Given the description of an element on the screen output the (x, y) to click on. 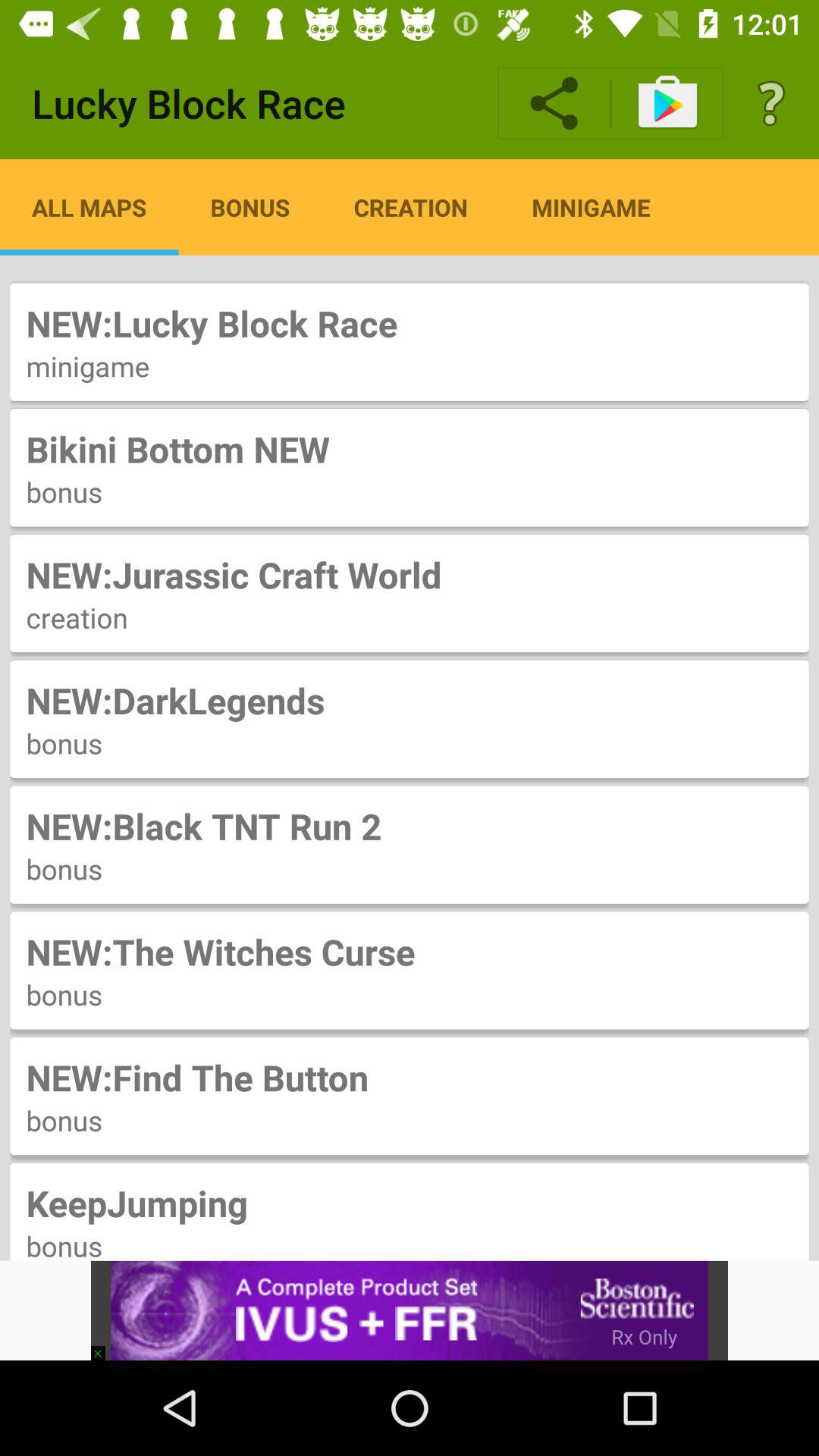
launch item above the new lucky block icon (89, 207)
